Given the description of an element on the screen output the (x, y) to click on. 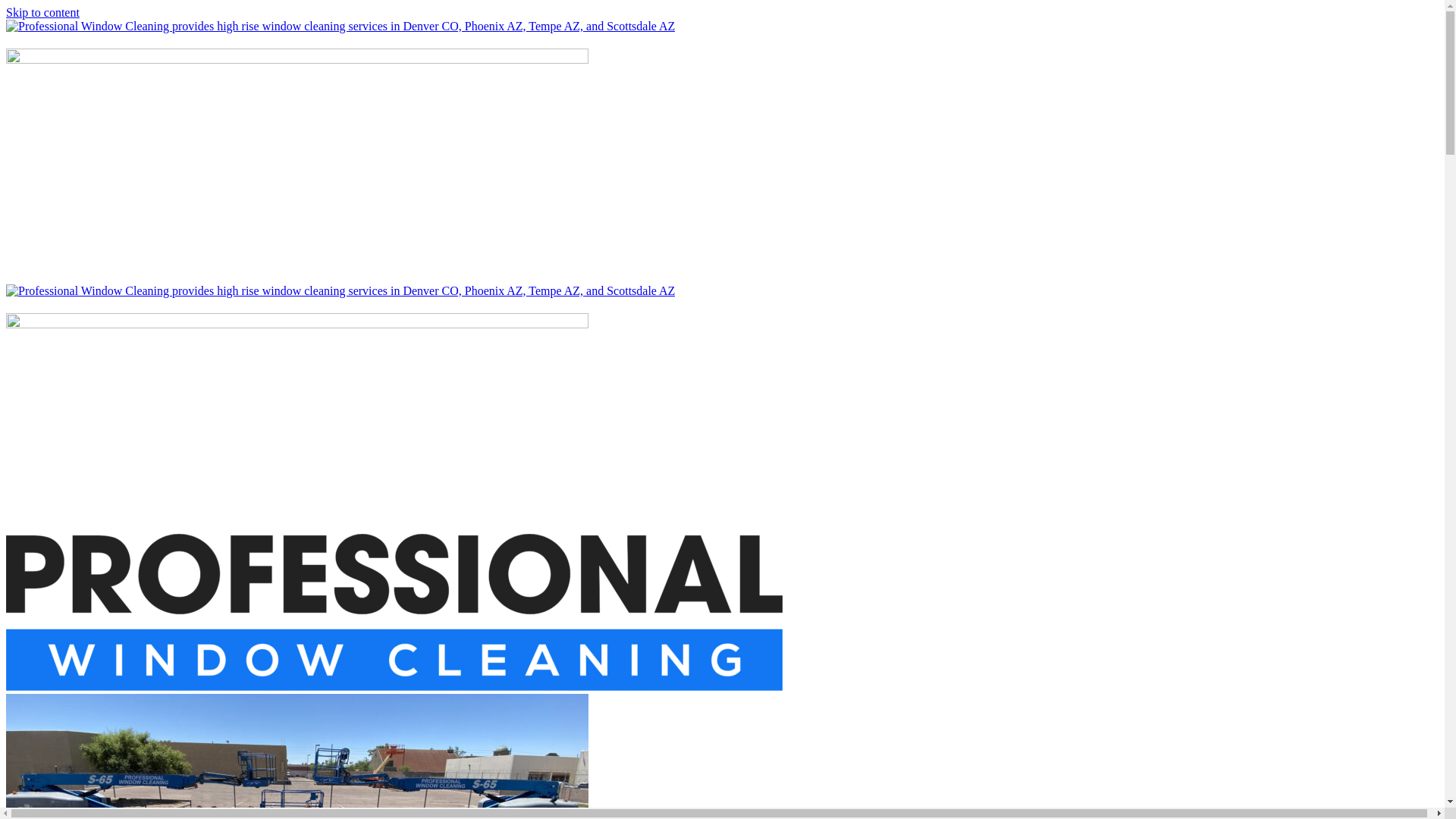
Skip to content (42, 11)
